Given the description of an element on the screen output the (x, y) to click on. 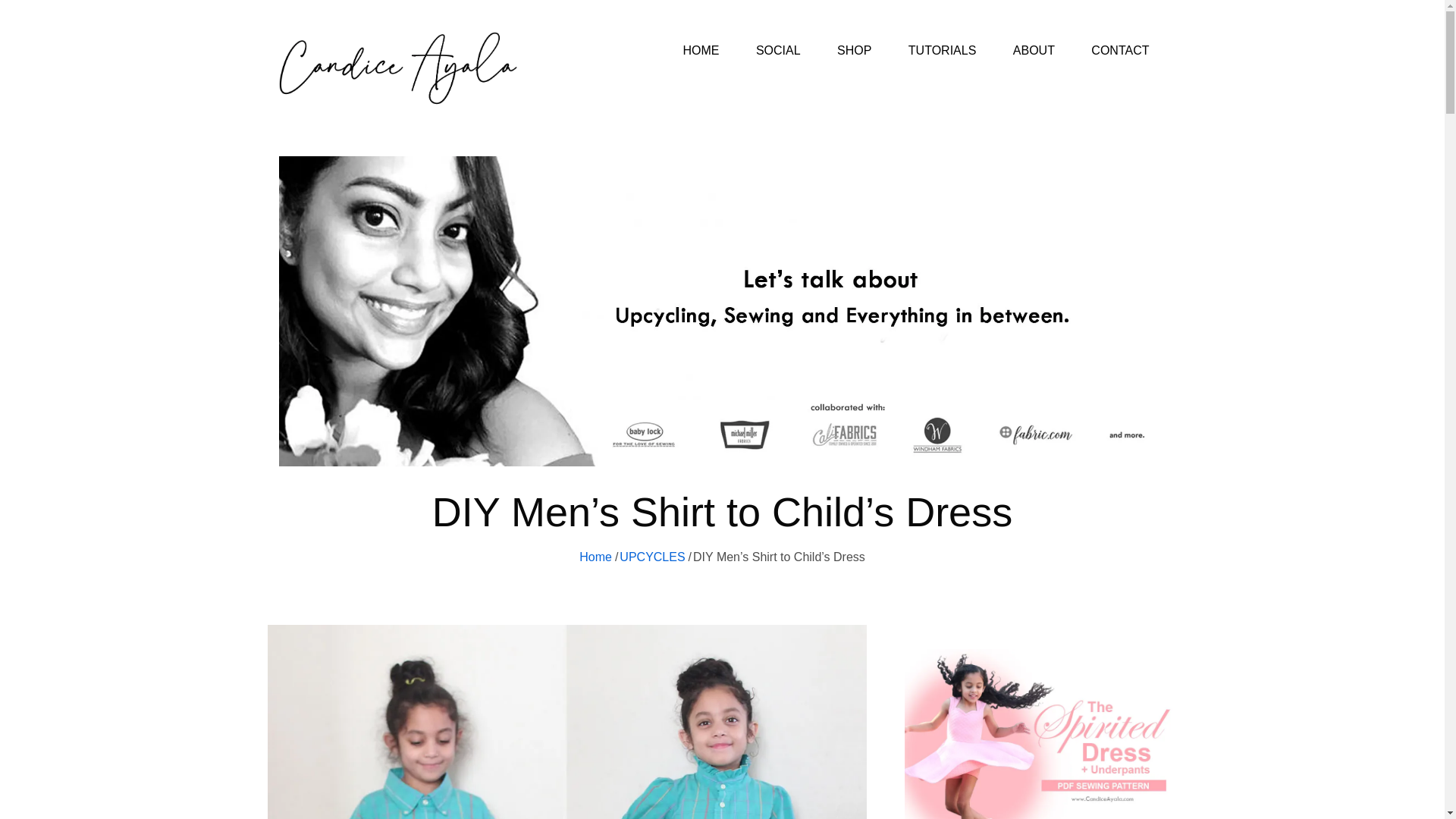
TUTORIALS (941, 50)
UPCYCLES (652, 556)
ABOUT (1033, 50)
Home (595, 556)
SHOP (854, 50)
CONTACT (1120, 50)
HOME (700, 50)
SOCIAL (777, 50)
